Given the description of an element on the screen output the (x, y) to click on. 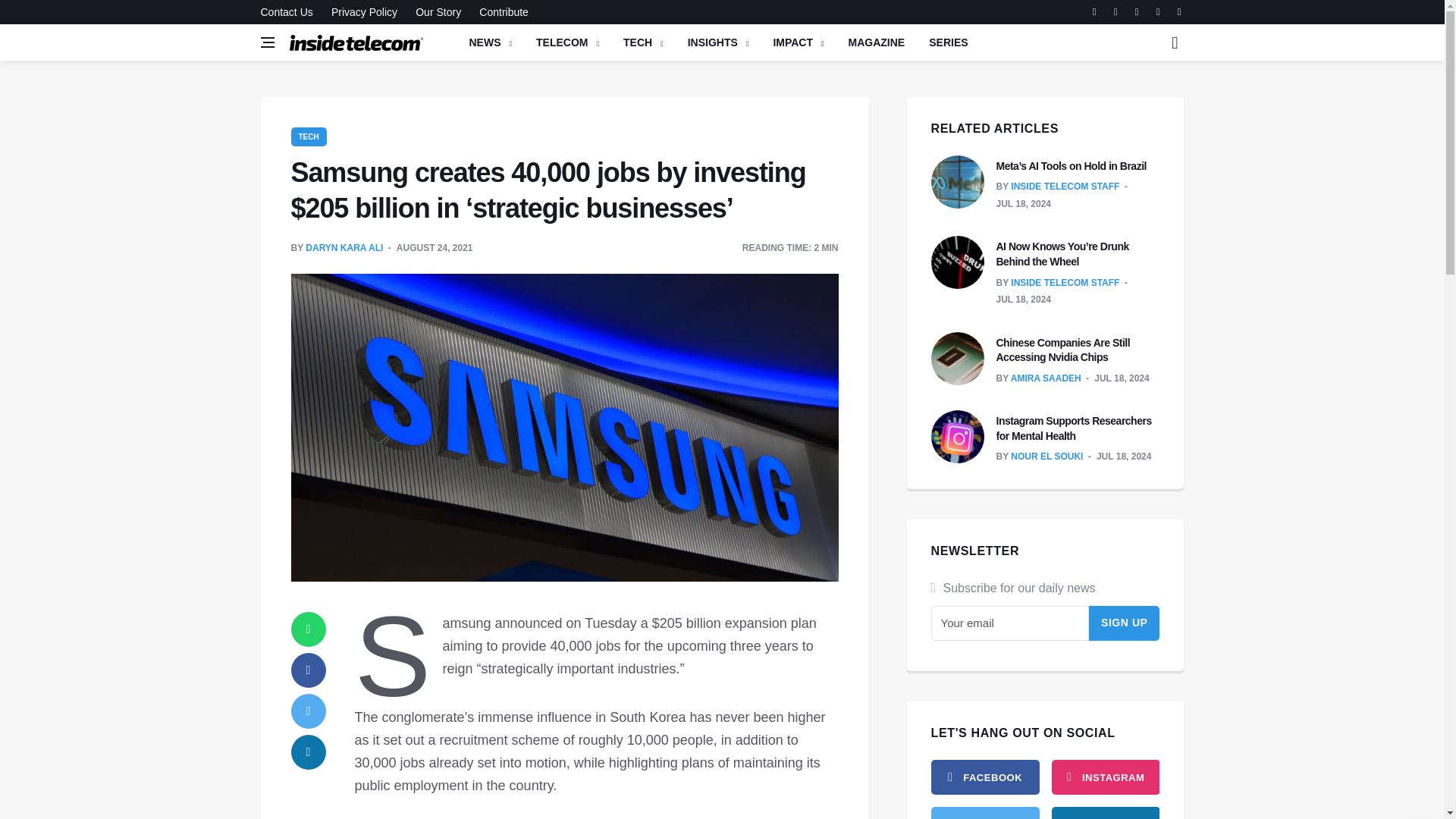
Contact Us (290, 12)
Sign Up (1124, 623)
twitter (308, 710)
whatsapp (308, 629)
rss (1104, 812)
facebook (985, 777)
instagram (1104, 777)
facebook (308, 669)
twitter (985, 812)
Contribute (499, 12)
